Given the description of an element on the screen output the (x, y) to click on. 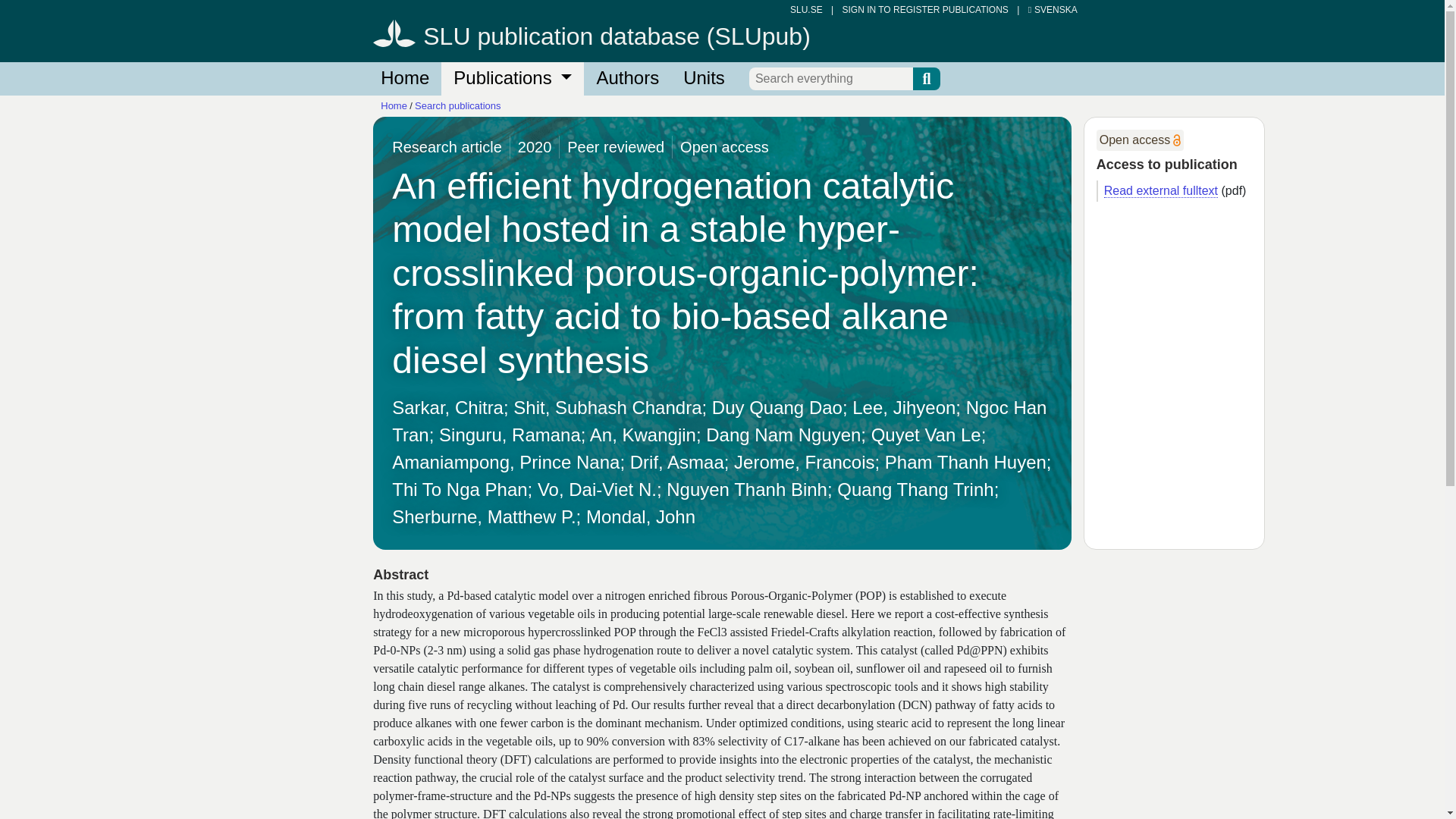
Units (703, 78)
SIGN IN TO REGISTER PUBLICATIONS (924, 9)
Read external fulltext (1160, 191)
Home (393, 105)
Search publications (457, 105)
Home (404, 78)
Authors (627, 78)
SVENSKA (1052, 9)
SLU.SE (806, 9)
Search (926, 78)
Publications (512, 78)
